Given the description of an element on the screen output the (x, y) to click on. 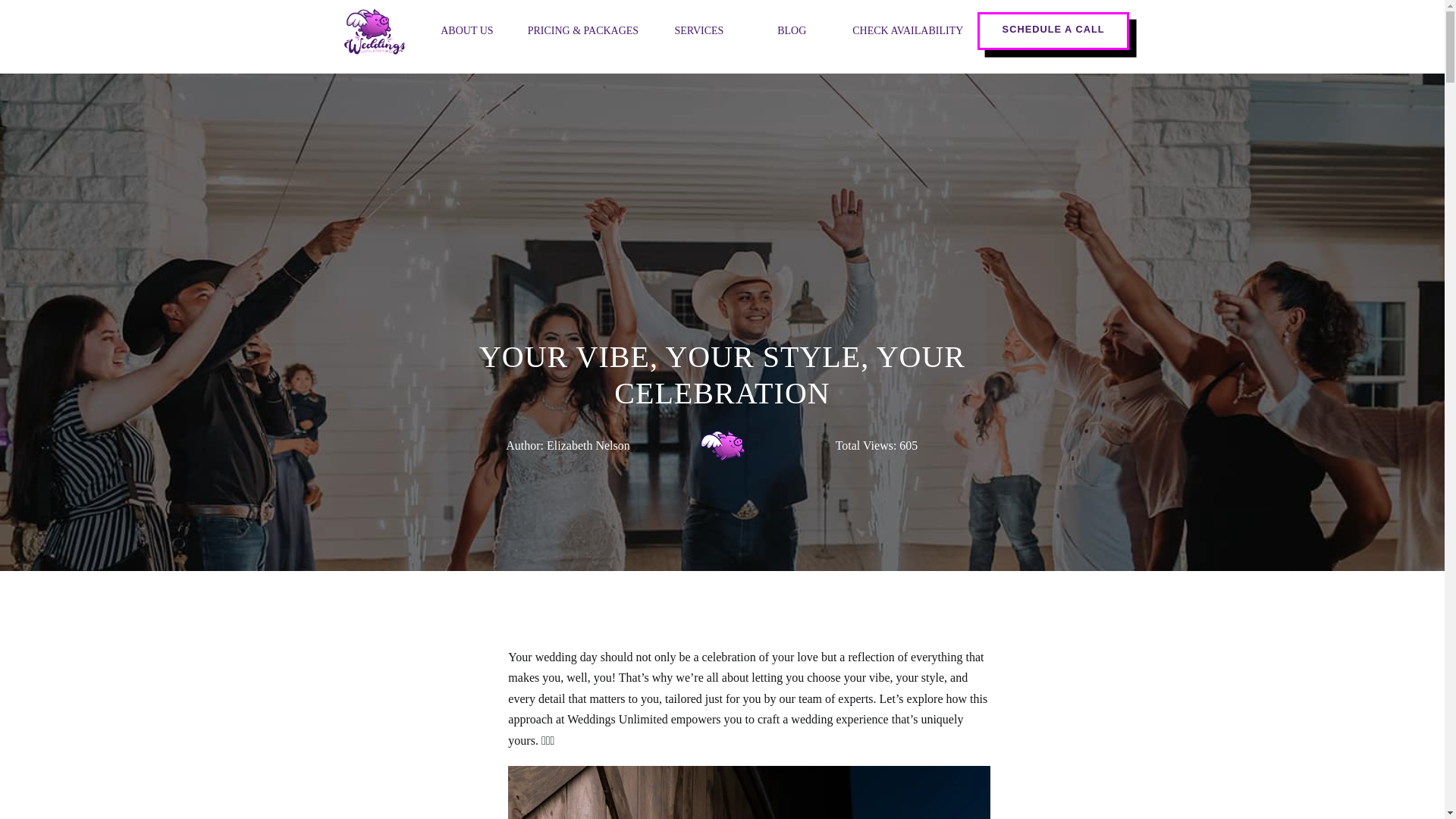
Flying Pig Alone (721, 445)
ABOUT US (467, 30)
SERVICES (698, 30)
